Given the description of an element on the screen output the (x, y) to click on. 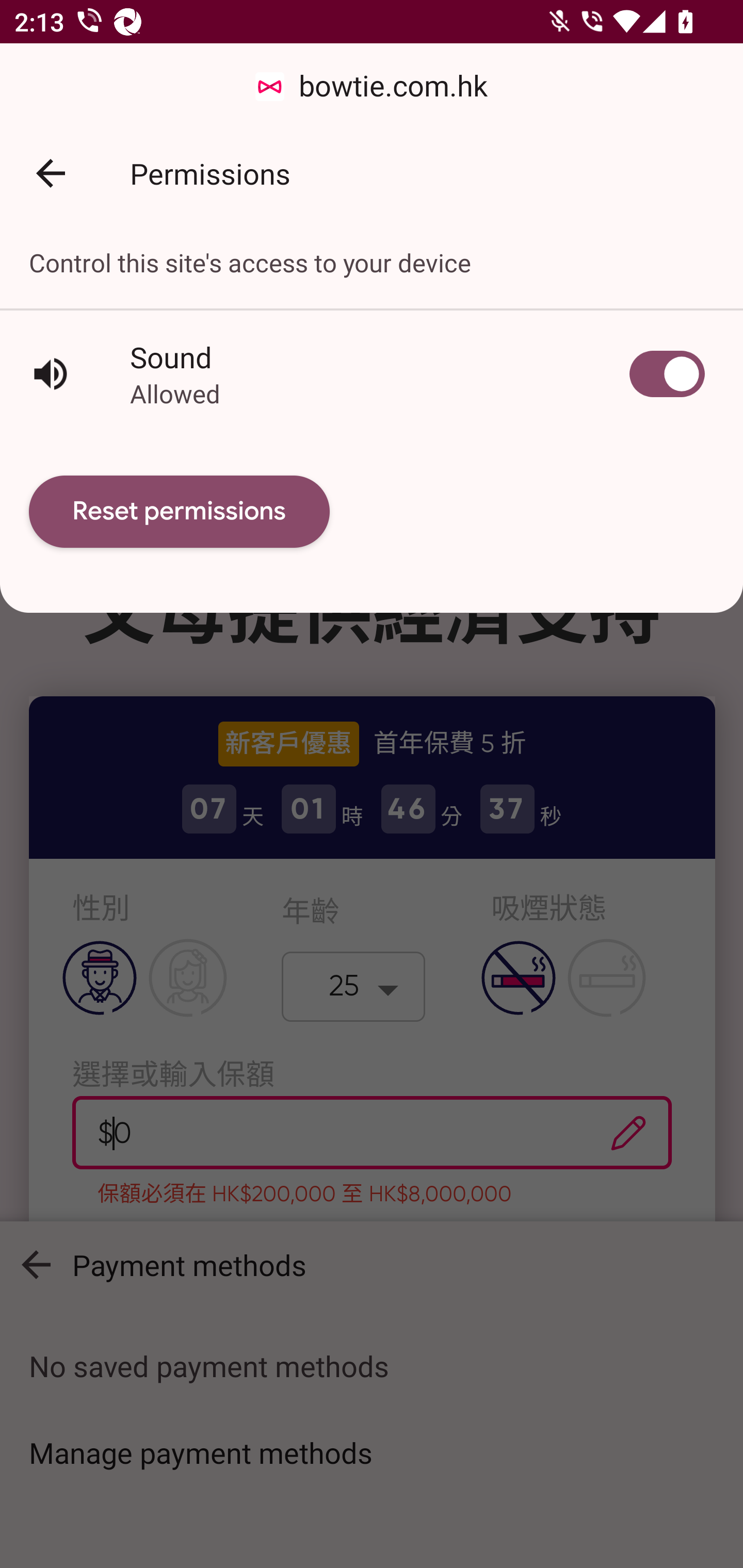
bowtie.com.hk (371, 86)
Back (50, 173)
Sound Allowed (371, 373)
Reset permissions (178, 511)
